Given the description of an element on the screen output the (x, y) to click on. 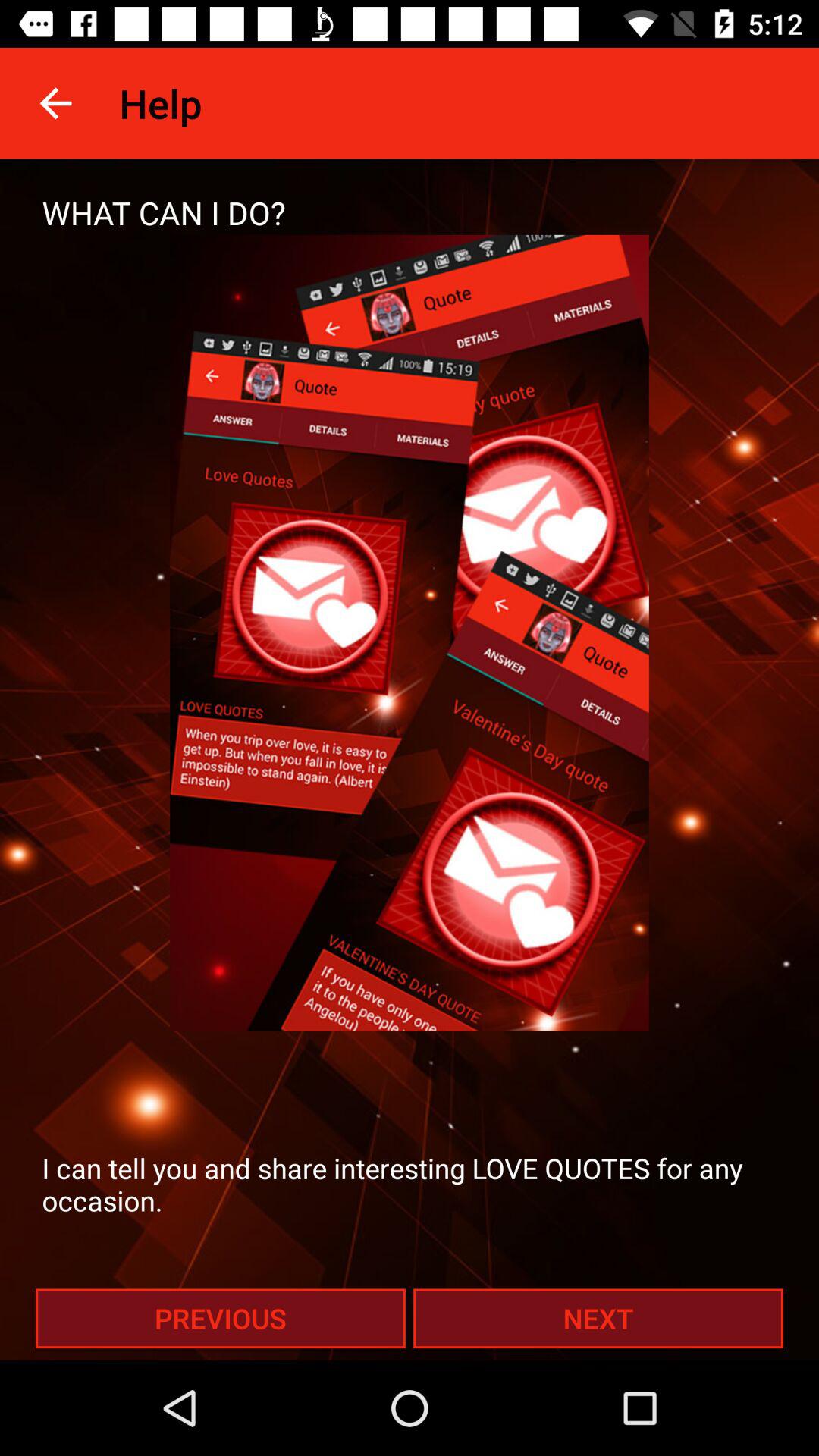
turn on item at the bottom right corner (598, 1318)
